Given the description of an element on the screen output the (x, y) to click on. 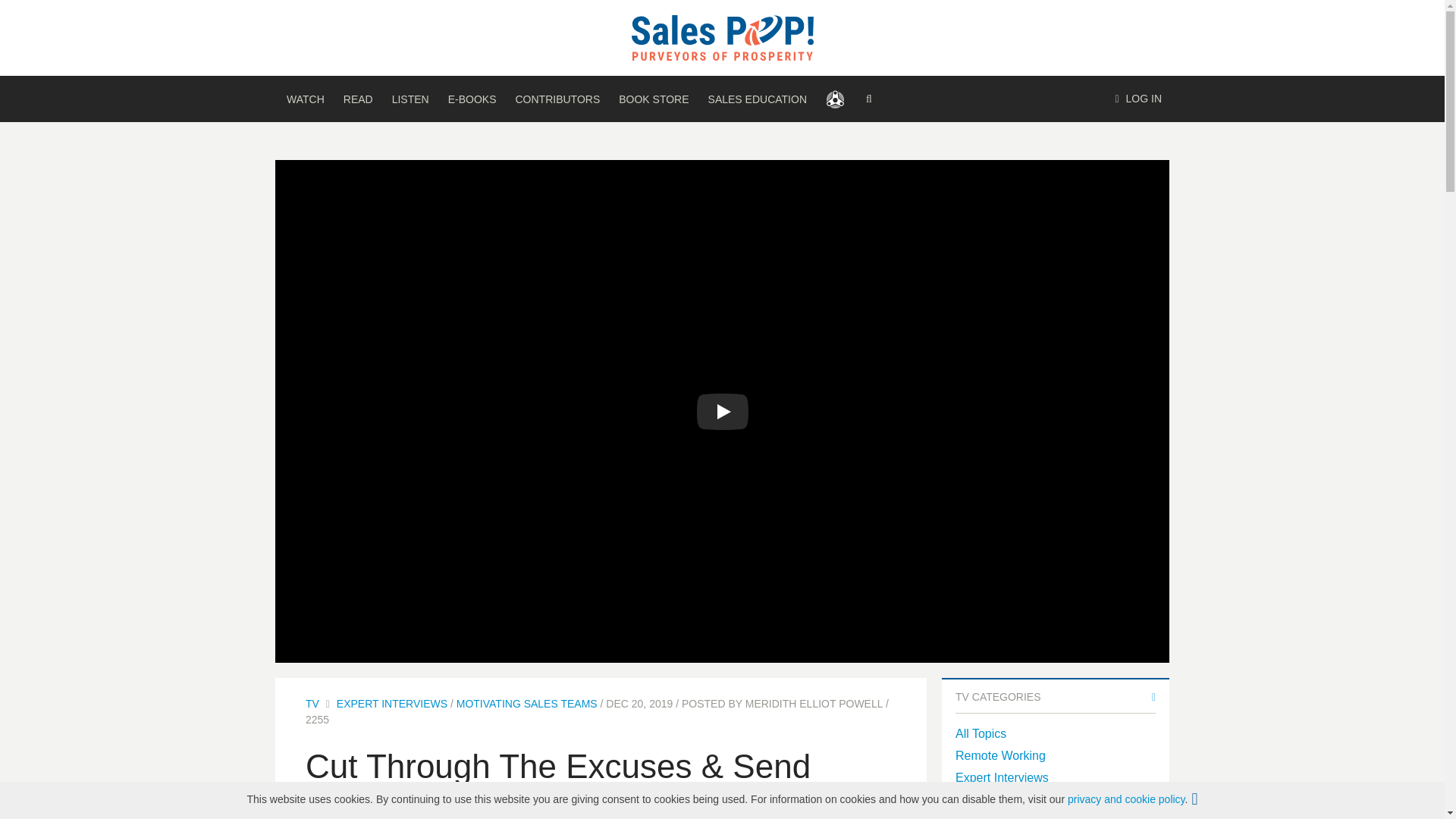
BOOK STORE (653, 99)
LISTEN (410, 99)
CONTRIBUTORS (556, 99)
LOG IN (1138, 99)
Play (721, 411)
TV (311, 703)
EXPERT INTERVIEWS (391, 703)
MOTIVATING SALES TEAMS (526, 703)
E-BOOKS (472, 99)
MERIDITH ELLIOT POWELL (813, 703)
